Given the description of an element on the screen output the (x, y) to click on. 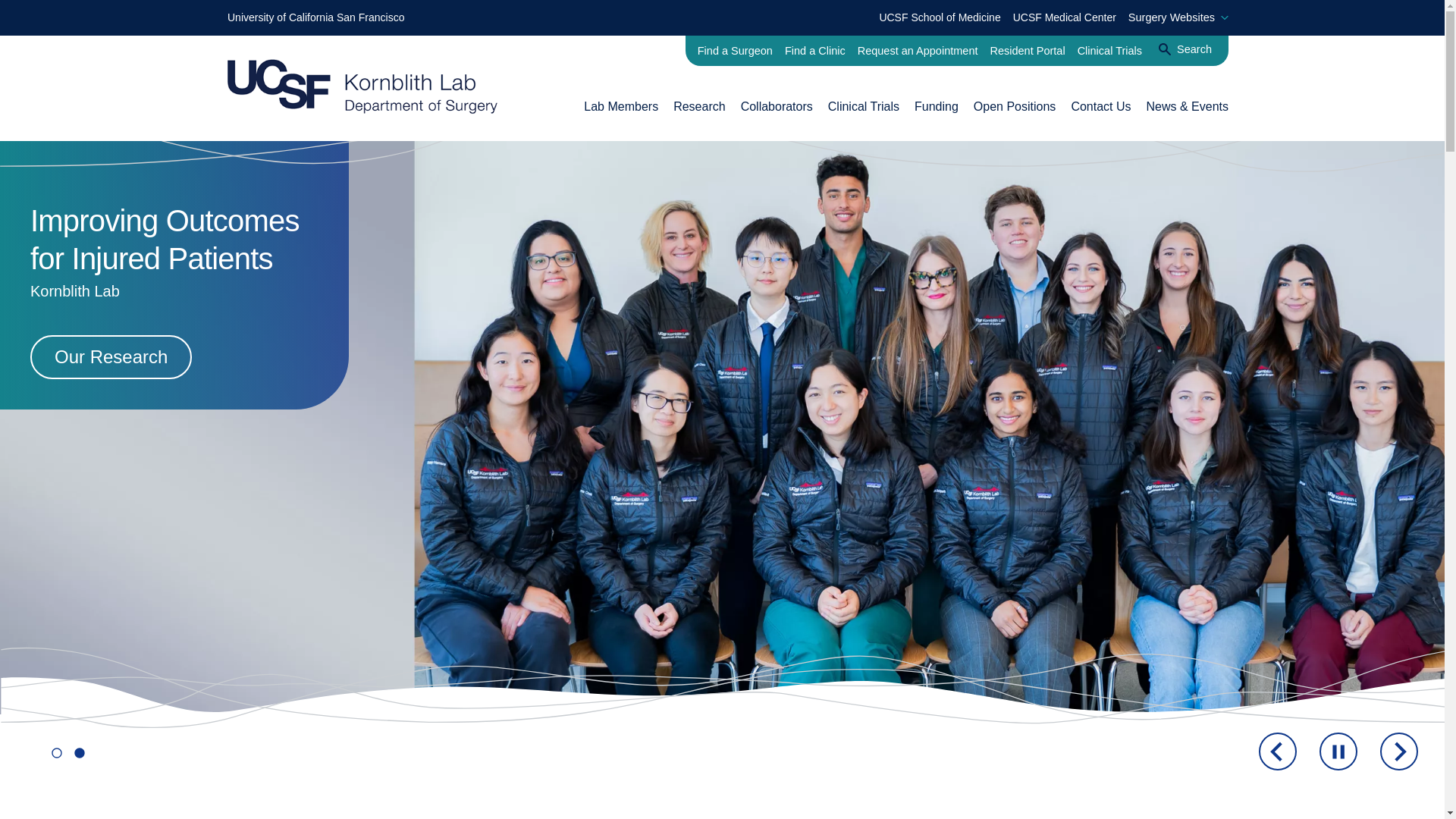
Kornblith Lab (698, 106)
Skip to main content (15, 15)
Home  (363, 86)
